Given the description of an element on the screen output the (x, y) to click on. 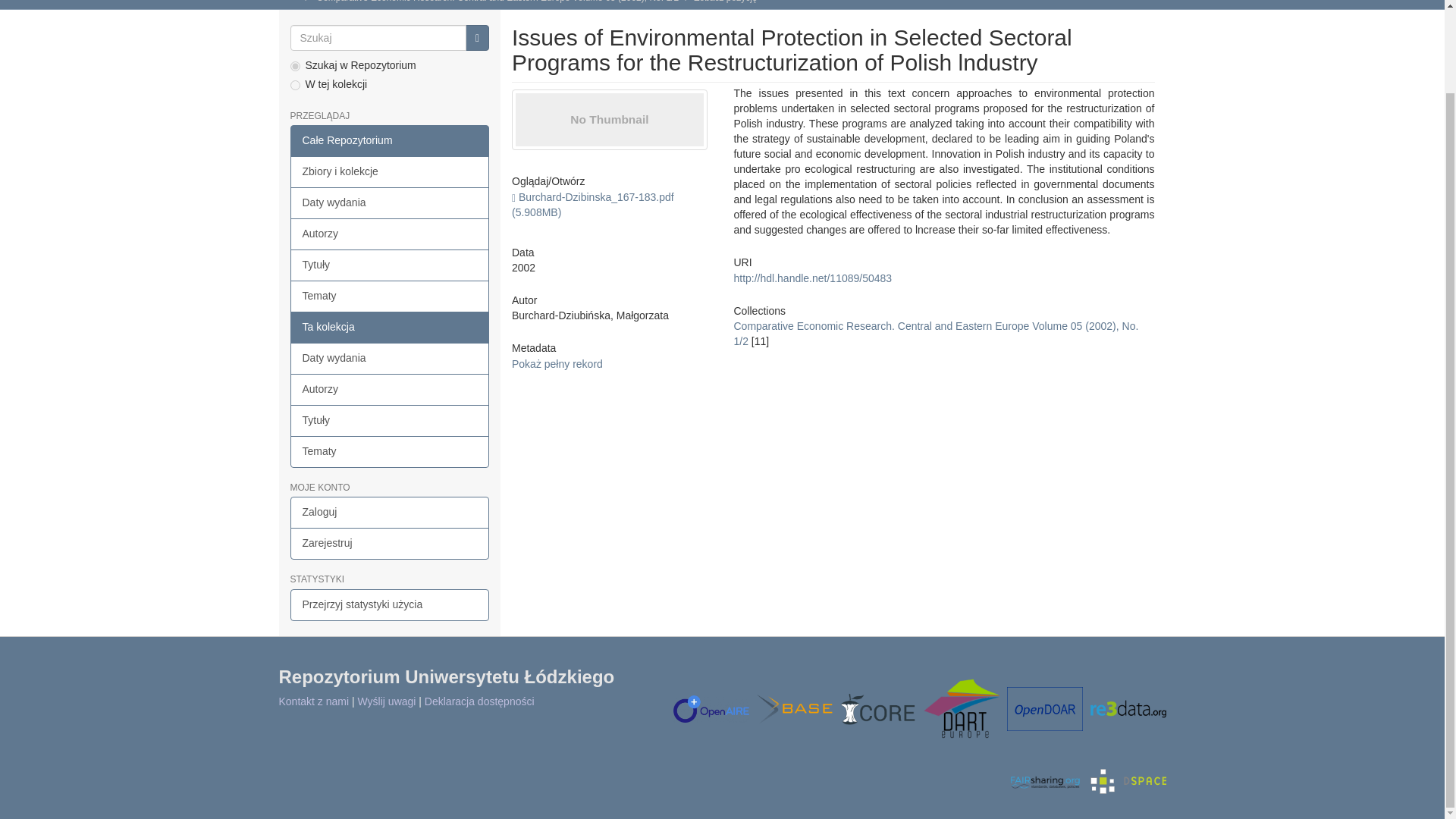
Daty wydania (389, 203)
Ta kolekcja (389, 327)
Zarejestruj (389, 543)
Tematy (389, 451)
Zaloguj (389, 512)
Autorzy (389, 234)
Autorzy (389, 389)
Tematy (389, 296)
Zbiory i kolekcje (389, 172)
Daty wydania (389, 358)
